Given the description of an element on the screen output the (x, y) to click on. 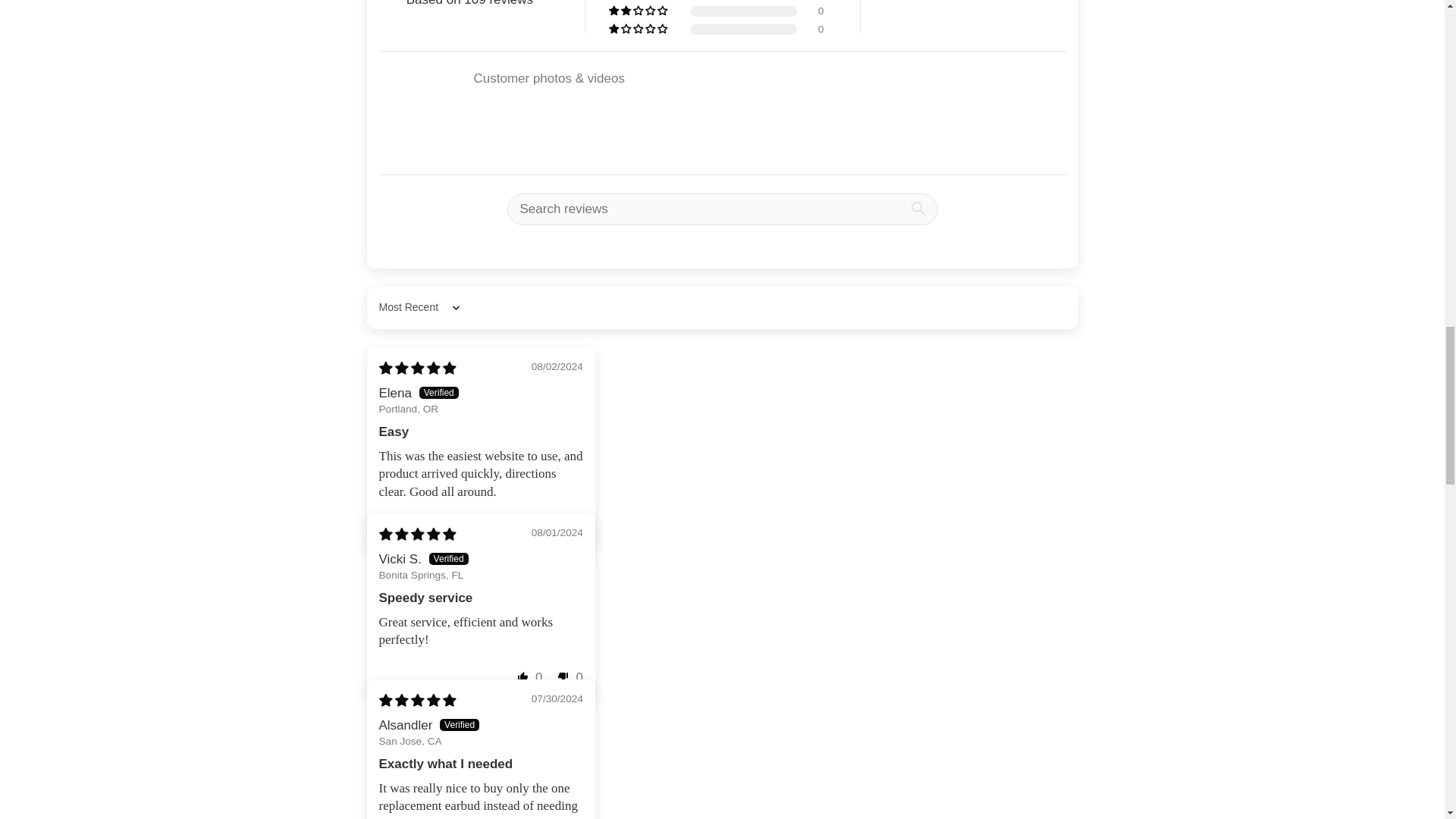
up (523, 527)
down (563, 676)
down (563, 527)
up (523, 676)
